Given the description of an element on the screen output the (x, y) to click on. 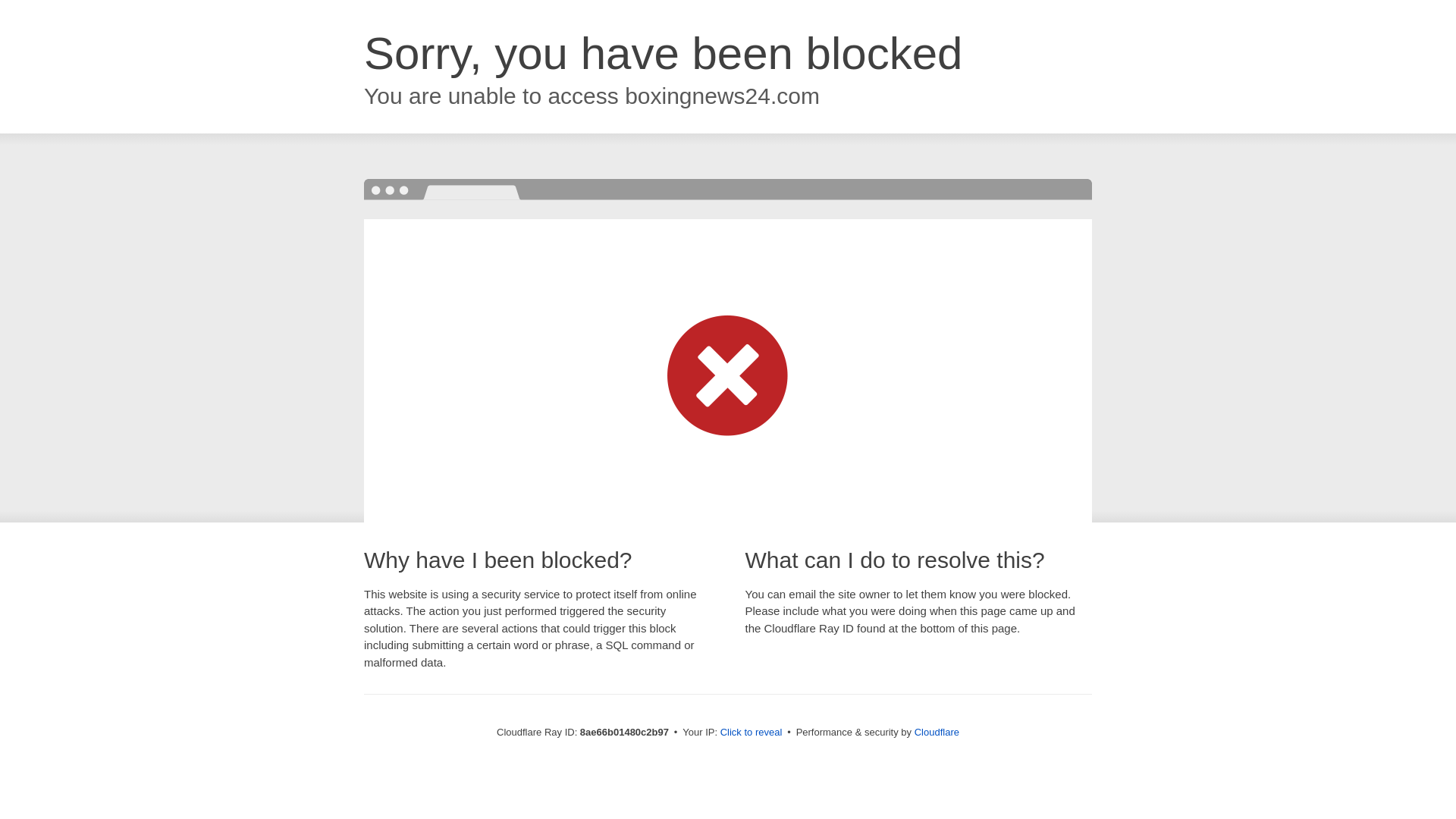
Click to reveal (751, 732)
Cloudflare (936, 731)
